Given the description of an element on the screen output the (x, y) to click on. 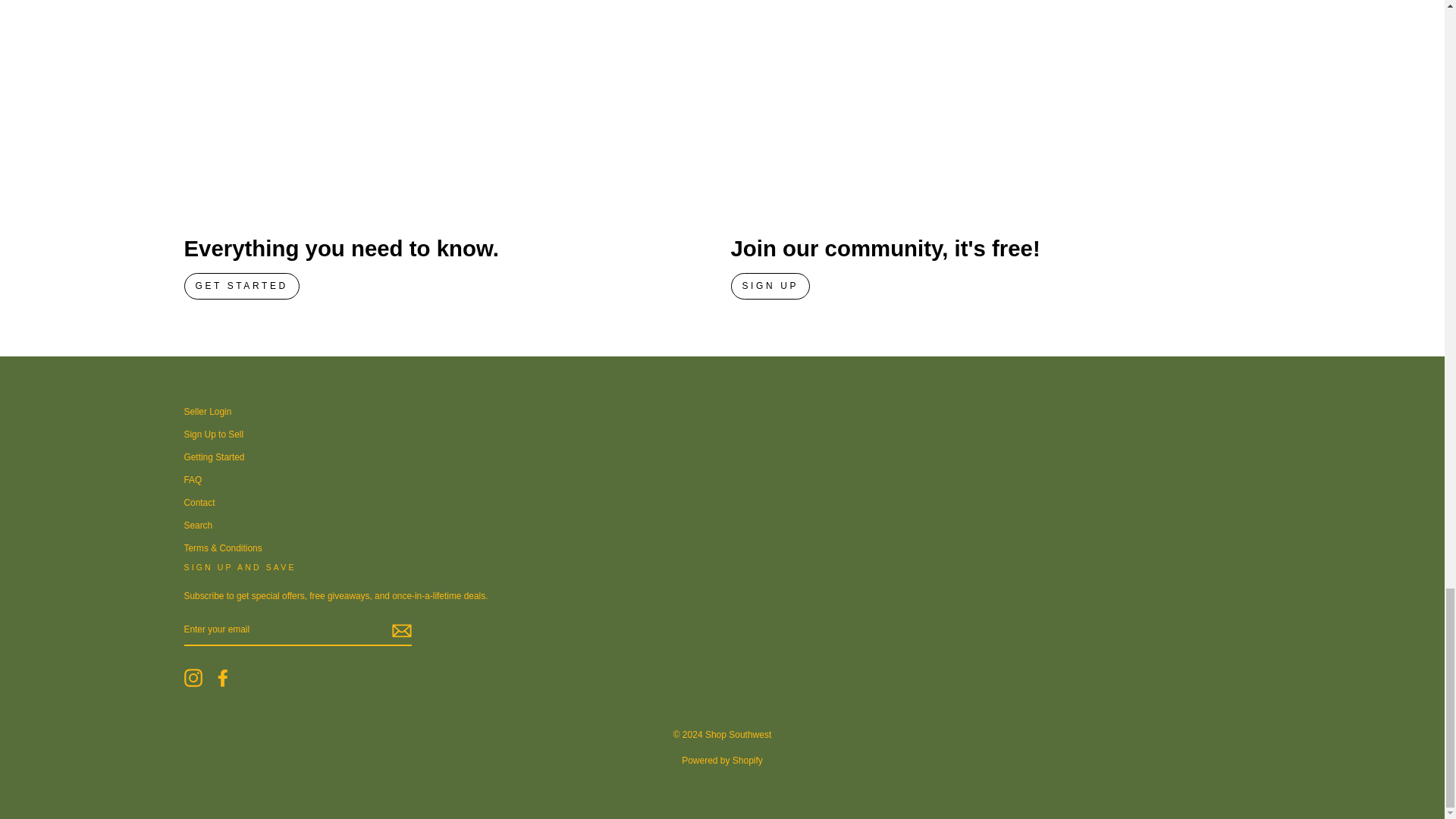
Shop Southwest on Facebook (222, 678)
Shop Southwest on Instagram (192, 678)
